Given the description of an element on the screen output the (x, y) to click on. 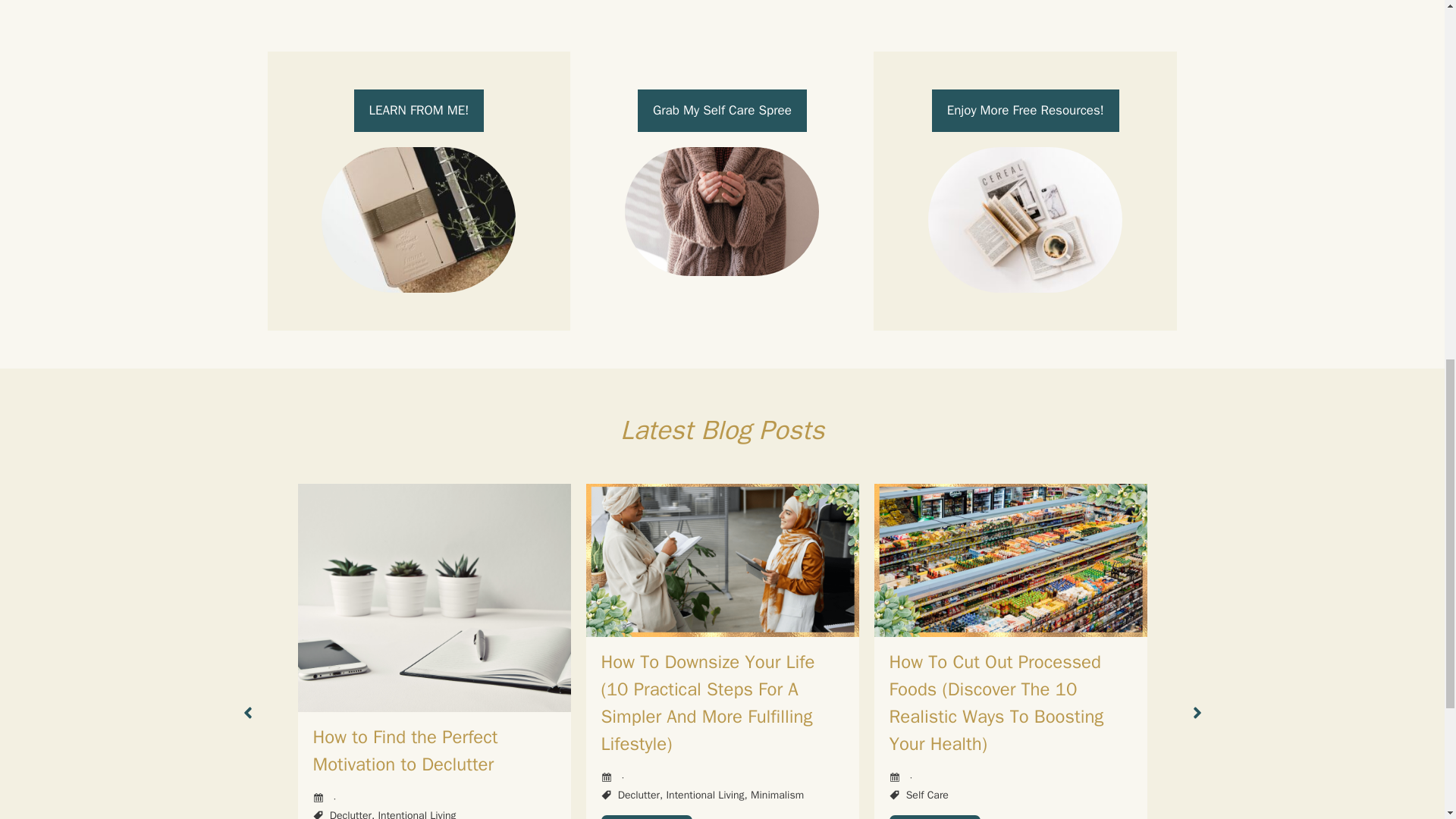
Latest Blog Posts (722, 428)
LEARN FROM ME! (418, 110)
Grab My Self Care Spree (721, 110)
Enjoy More Free Resources! (1025, 110)
Scroll back to top (1406, 720)
Blog (722, 428)
